Given the description of an element on the screen output the (x, y) to click on. 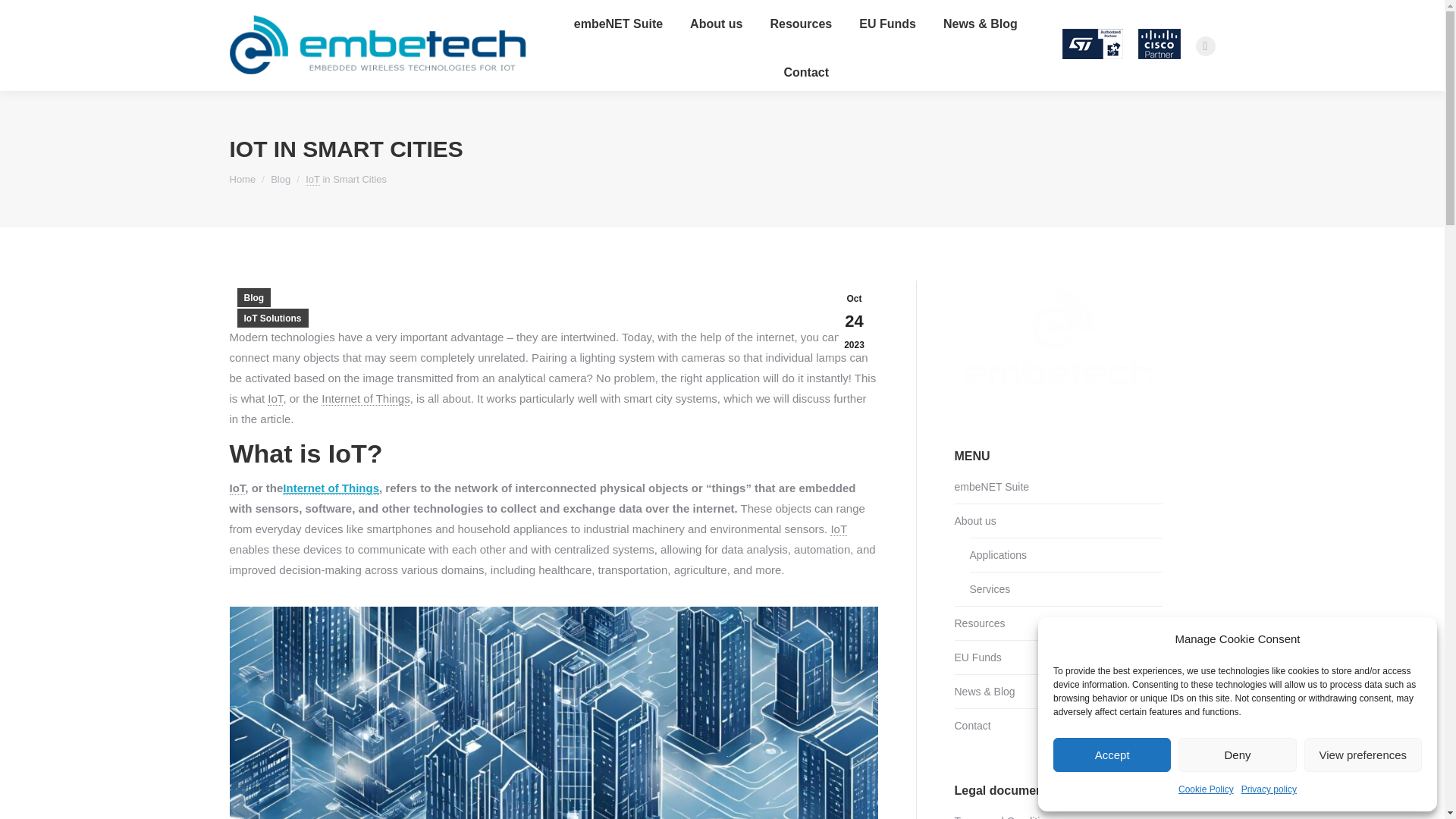
Deny (1236, 754)
embeNET Suite (617, 24)
Resources (800, 24)
Linkedin page opens in new window (1204, 46)
View preferences (1363, 754)
EU Funds (887, 24)
Privacy policy (1269, 789)
Cookie Policy (1205, 789)
Accept (1111, 754)
Contact (805, 72)
